Given the description of an element on the screen output the (x, y) to click on. 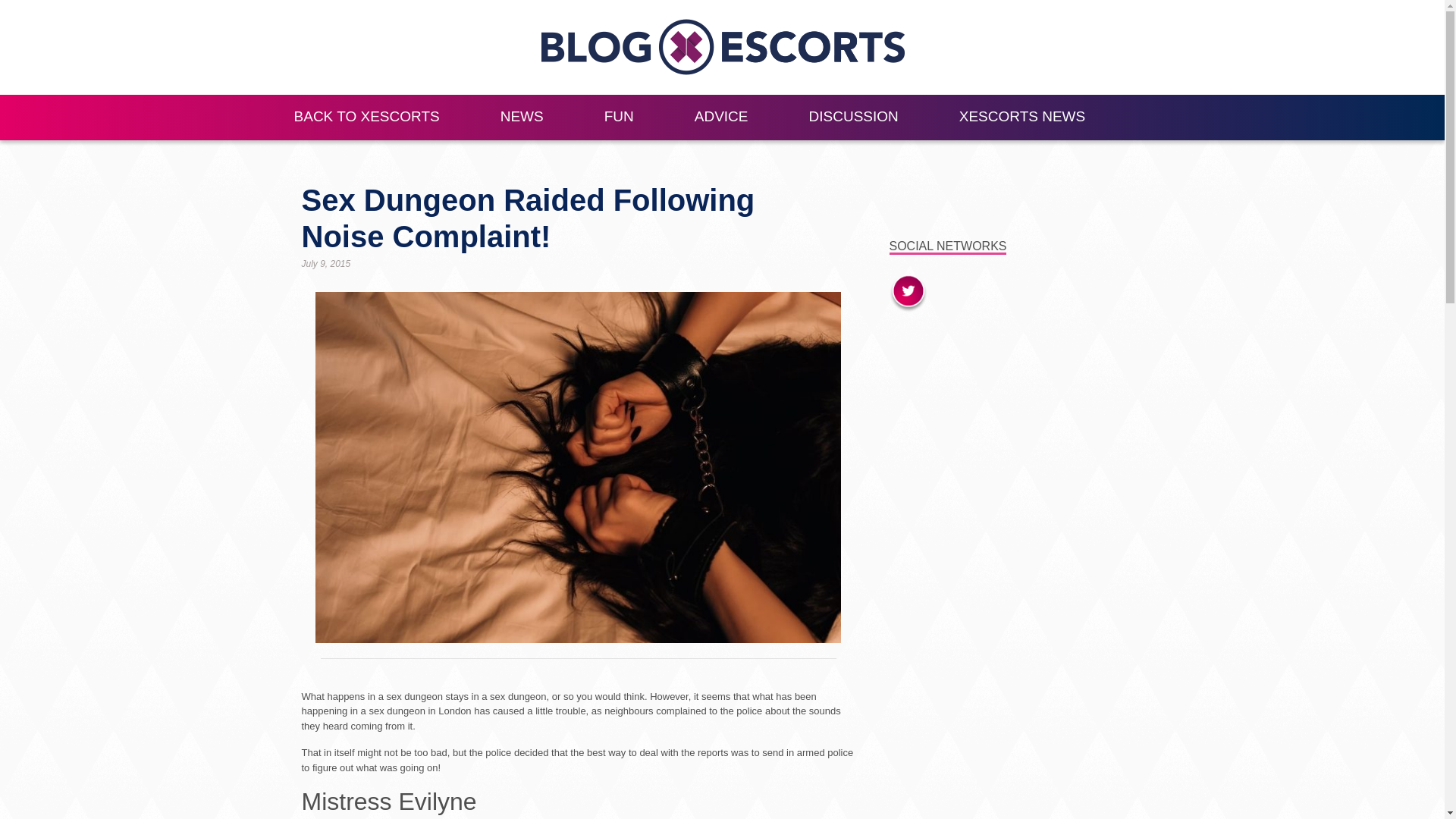
FUN (618, 116)
Discussion (853, 116)
NEWS (521, 116)
Advice (720, 116)
BACK TO XESCORTS (366, 116)
News (521, 116)
XESCORTS NEWS (1021, 116)
Back to XEscorts (366, 116)
Fun (618, 116)
XEscorts News (1021, 116)
